Given the description of an element on the screen output the (x, y) to click on. 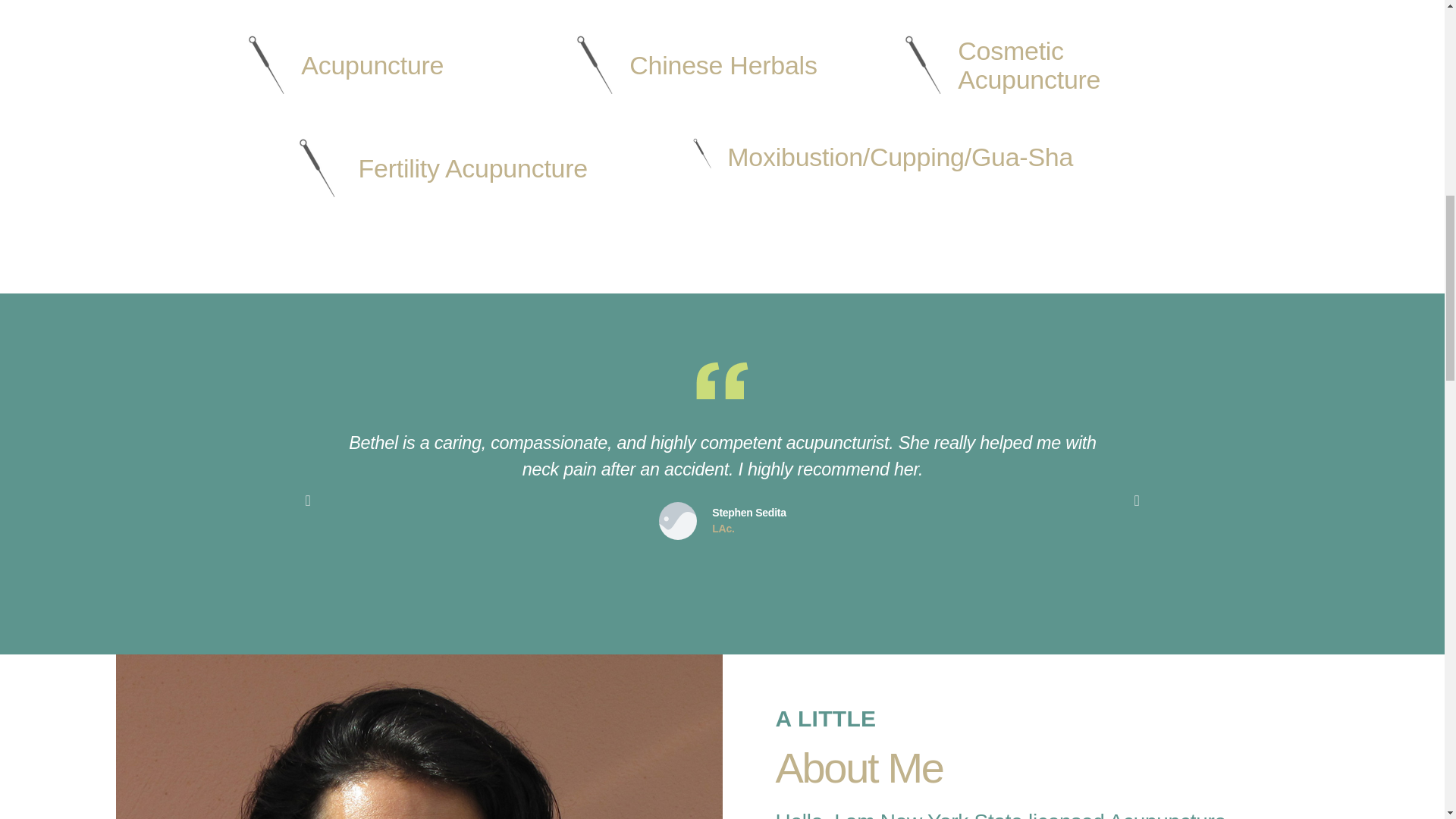
Chinese Herbals (722, 64)
Acupuncture (372, 64)
Gua-Sha (1022, 156)
Fertility Acupuncture (473, 167)
Cosmetic Acupuncture (1029, 65)
